Given the description of an element on the screen output the (x, y) to click on. 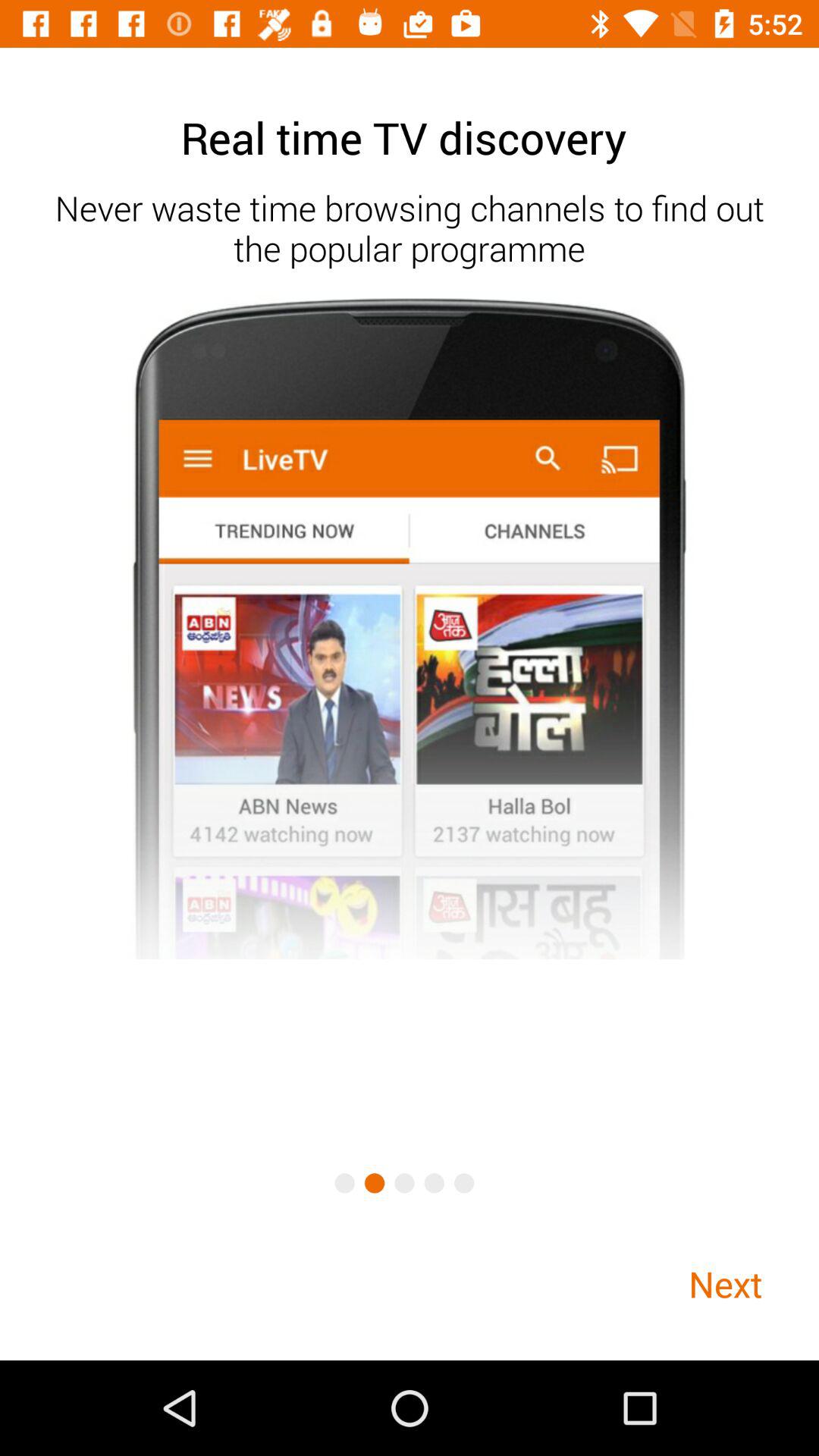
turn off the next at the bottom right corner (725, 1283)
